Given the description of an element on the screen output the (x, y) to click on. 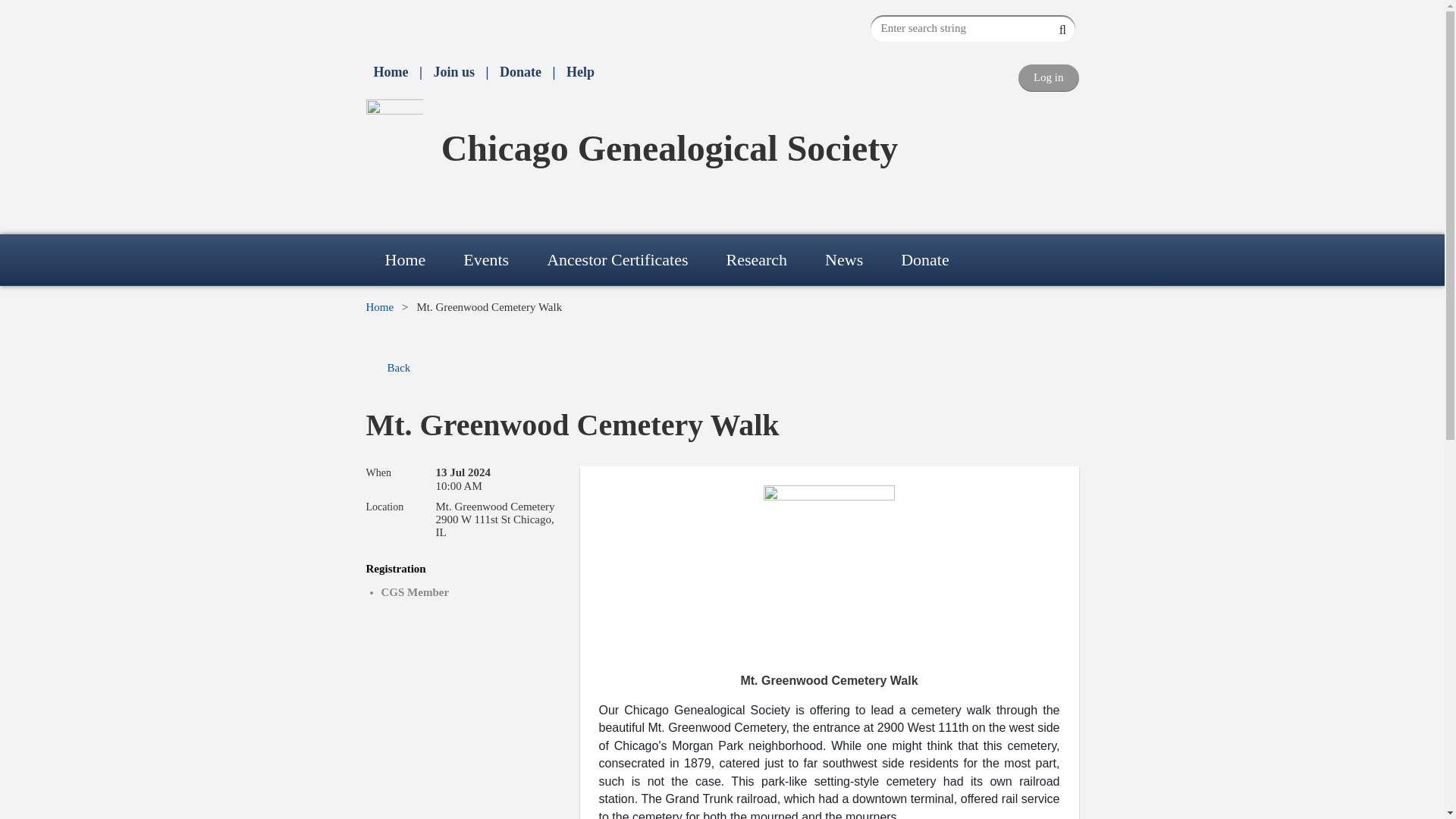
Donate (925, 259)
Twitter (403, 24)
Home (404, 259)
Back (387, 367)
Research (756, 259)
Ancestor Certificates (616, 259)
Home (379, 306)
Facebook (374, 24)
Home (389, 72)
Home (389, 72)
